Given the description of an element on the screen output the (x, y) to click on. 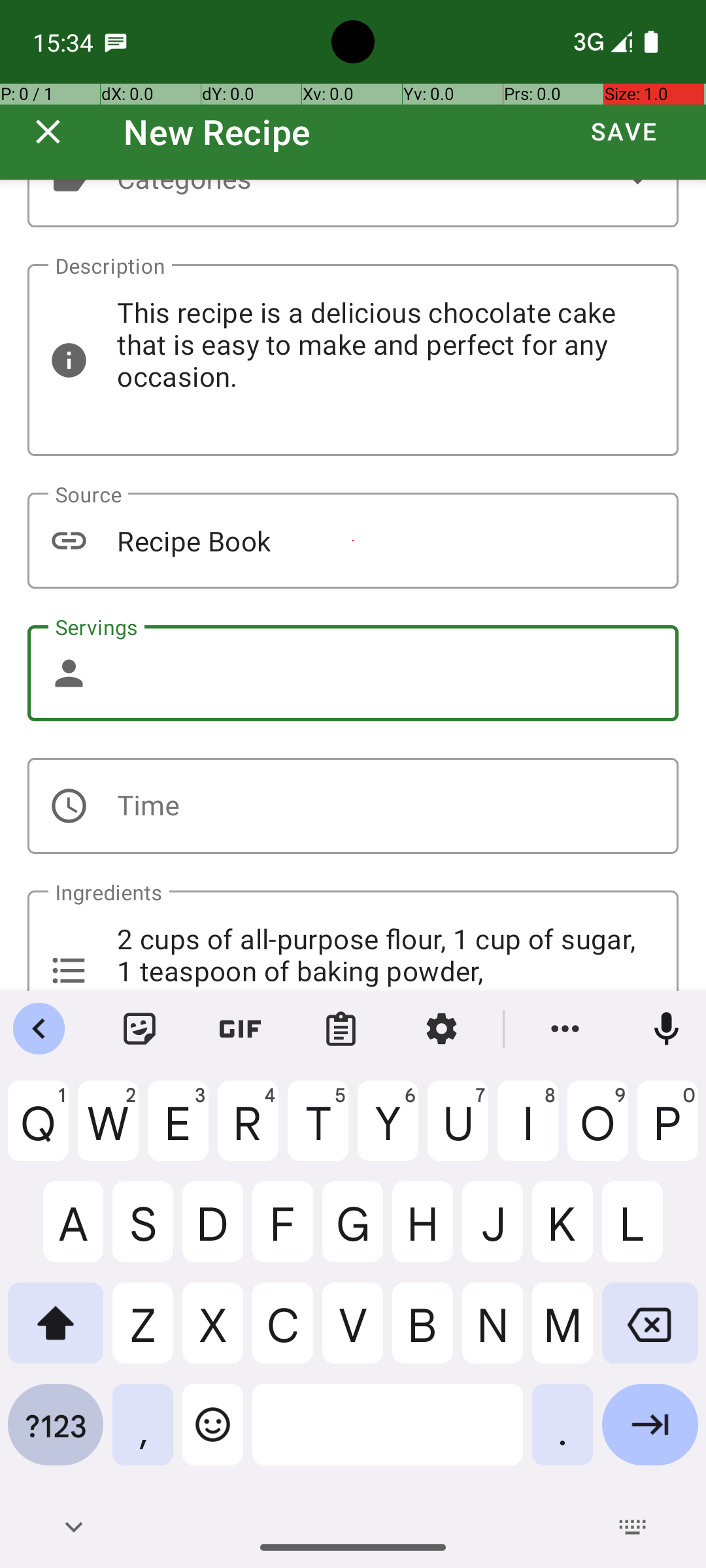
This recipe is a delicious chocolate cake that is easy to make and perfect for any occasion.
 Element type: android.widget.EditText (352, 359)
Recipe Book Element type: android.widget.EditText (352, 540)
2 cups of all-purpose flour, 1 cup of sugar, 1 teaspoon of baking powder,
 Element type: android.widget.EditText (352, 940)
